Given the description of an element on the screen output the (x, y) to click on. 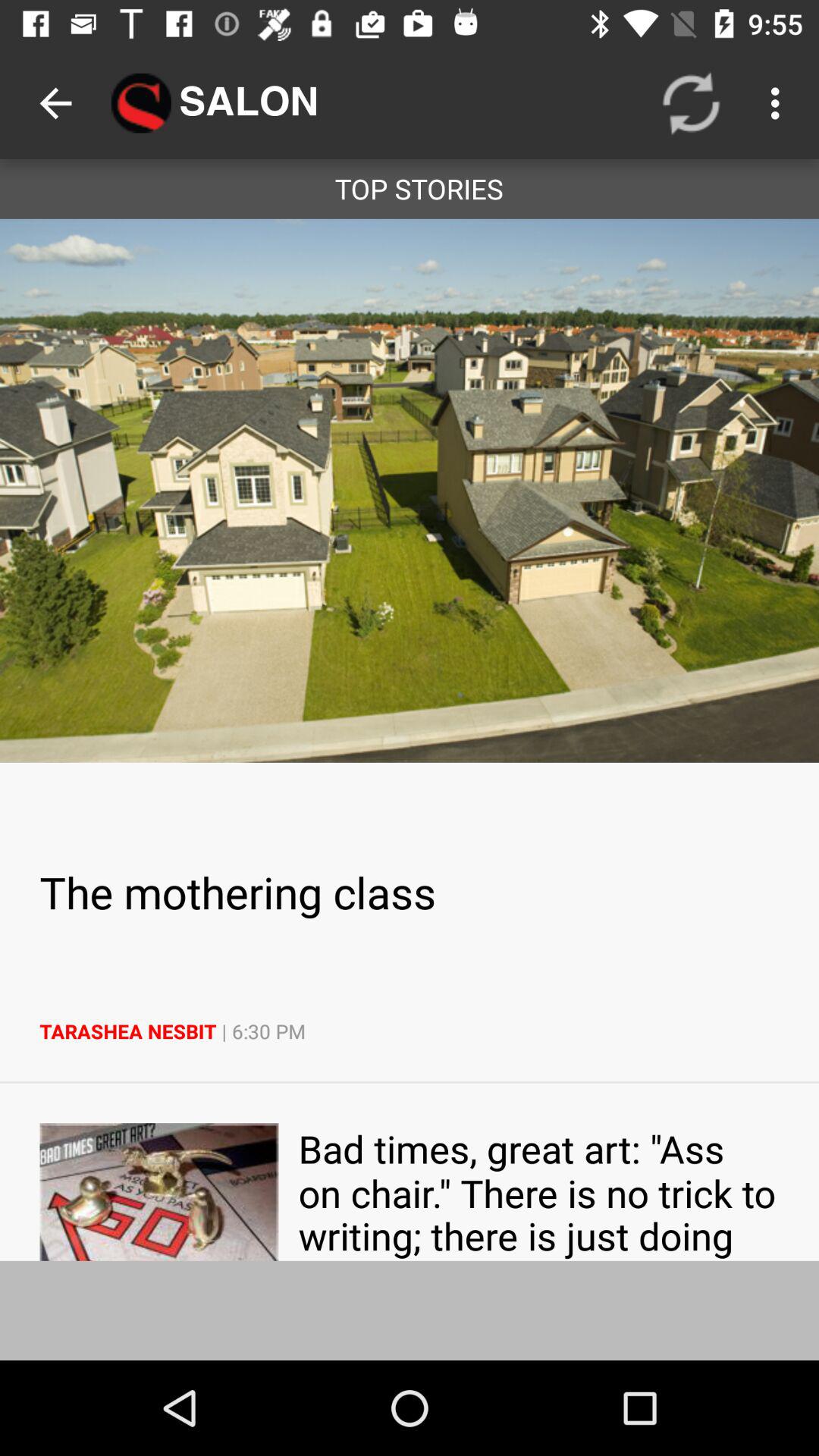
jump to bad times great (538, 1191)
